Given the description of an element on the screen output the (x, y) to click on. 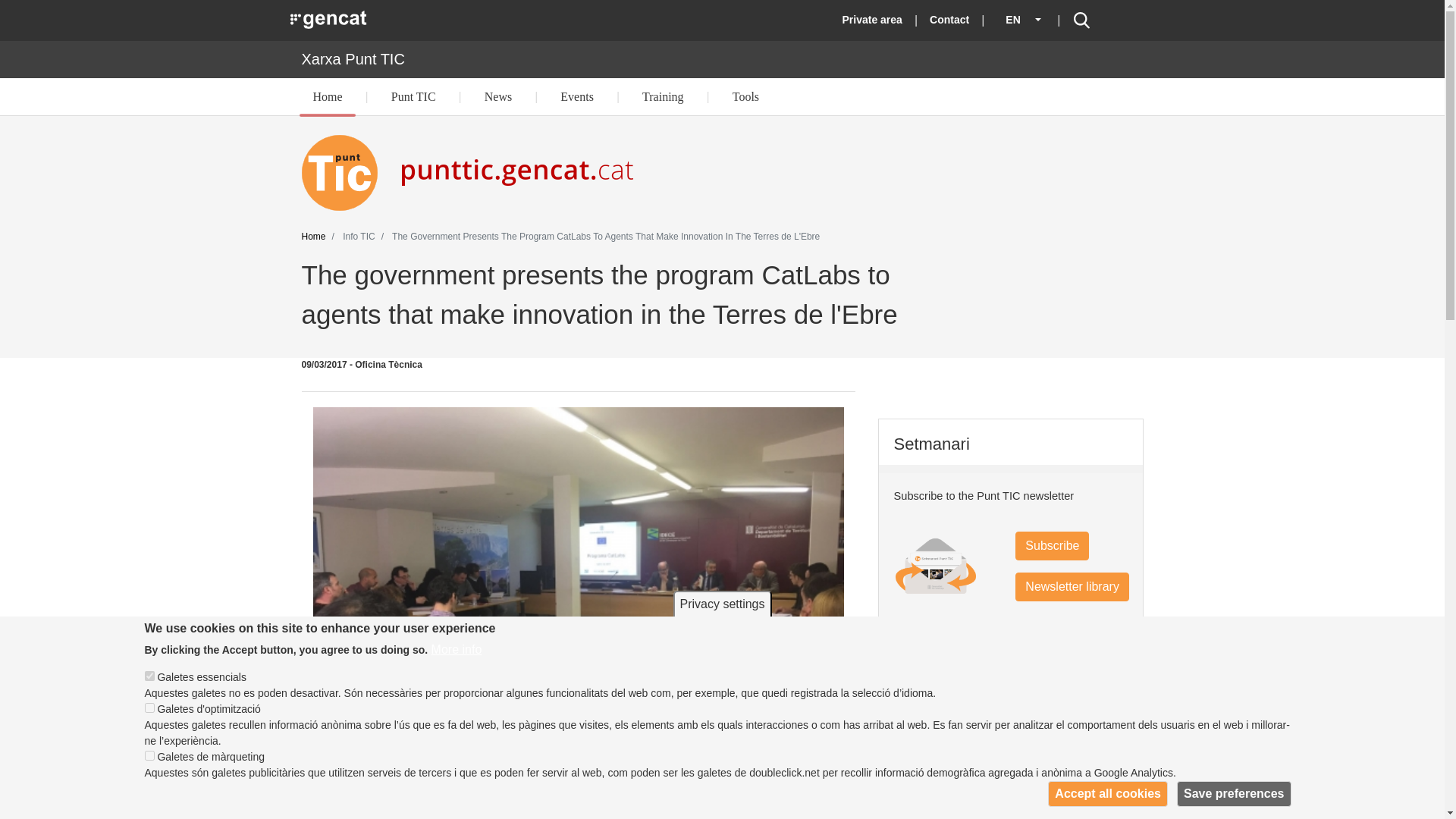
Contact (949, 19)
Skip to main content (721, 1)
Private area (871, 19)
Private area (871, 19)
. Obre en una nova finestra. (328, 19)
Xarxa Punt TIC (352, 58)
Punt TIC (413, 96)
Home (327, 96)
Search (1080, 20)
